Given the description of an element on the screen output the (x, y) to click on. 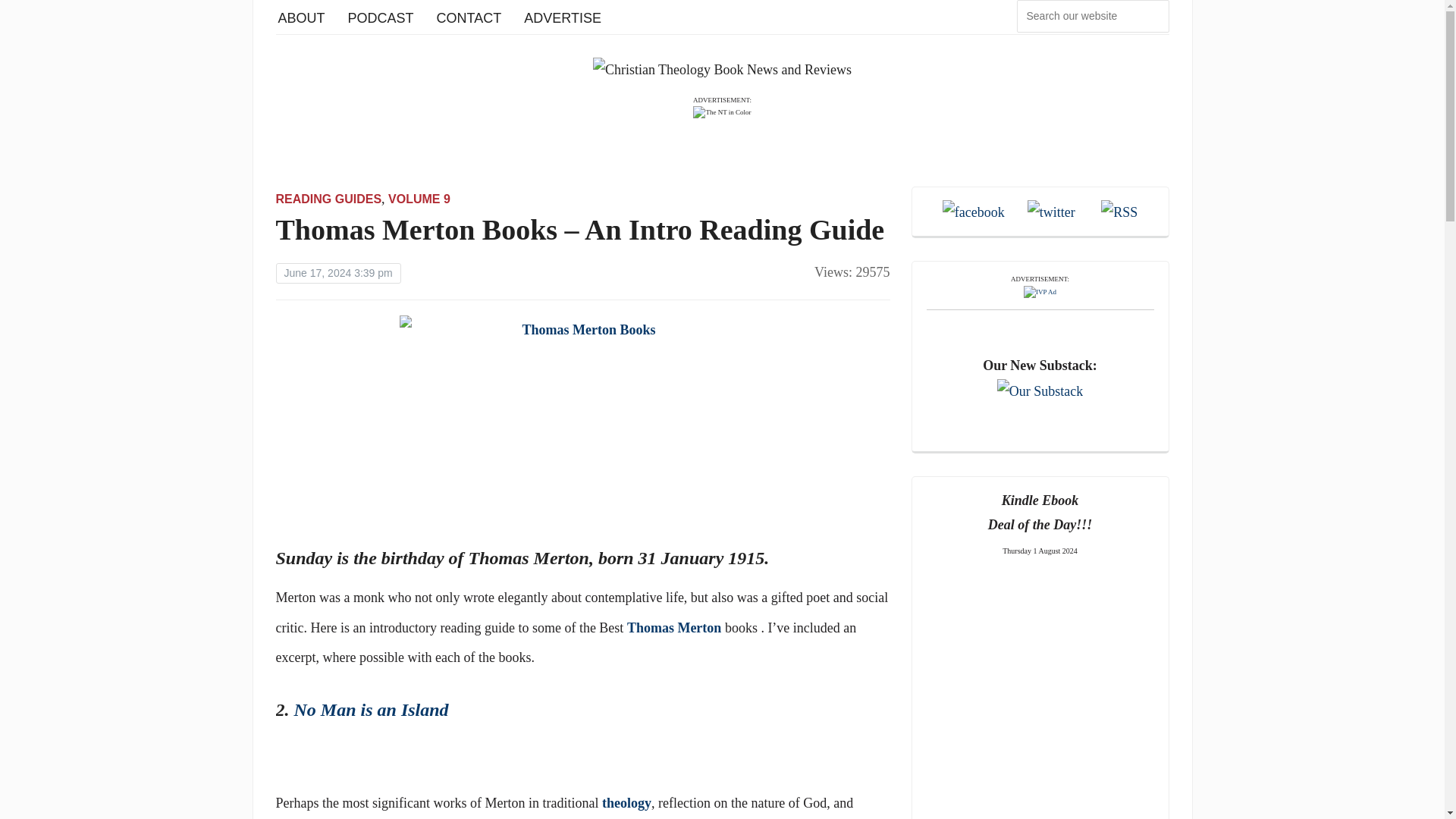
theology (626, 802)
Thomas Merton (674, 627)
ADVERTISE (562, 17)
PODCAST (380, 17)
theology (626, 802)
ABOUT (301, 17)
Thomas Merton (674, 627)
CONTACT (469, 17)
VOLUME 9 (418, 198)
No Man is an Island (371, 709)
READING GUIDES (328, 198)
